Given the description of an element on the screen output the (x, y) to click on. 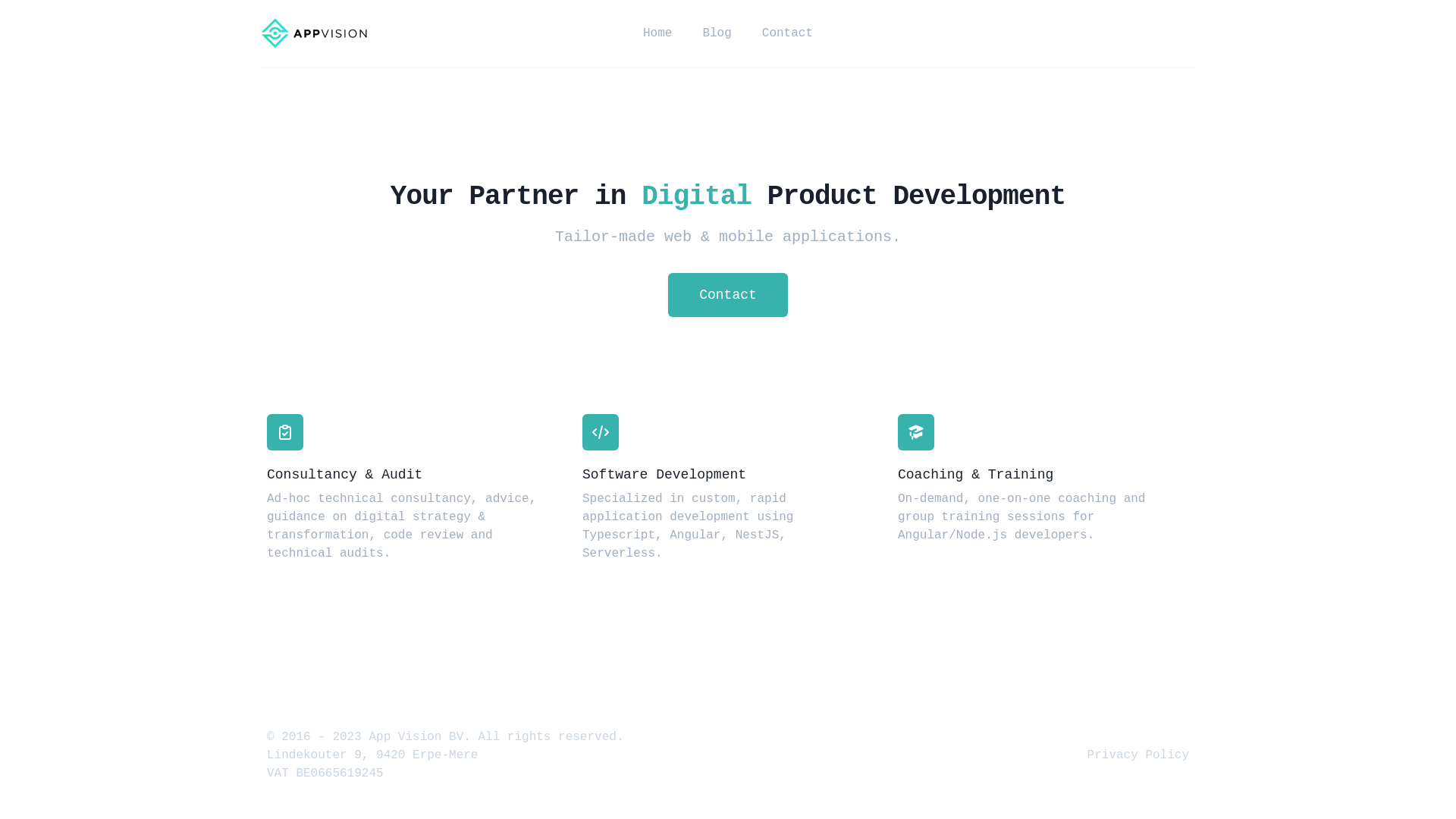
Contact Element type: text (787, 33)
Contact Element type: text (727, 294)
Home Element type: text (657, 33)
Privacy Policy Element type: text (1138, 755)
Blog Element type: text (716, 33)
